Given the description of an element on the screen output the (x, y) to click on. 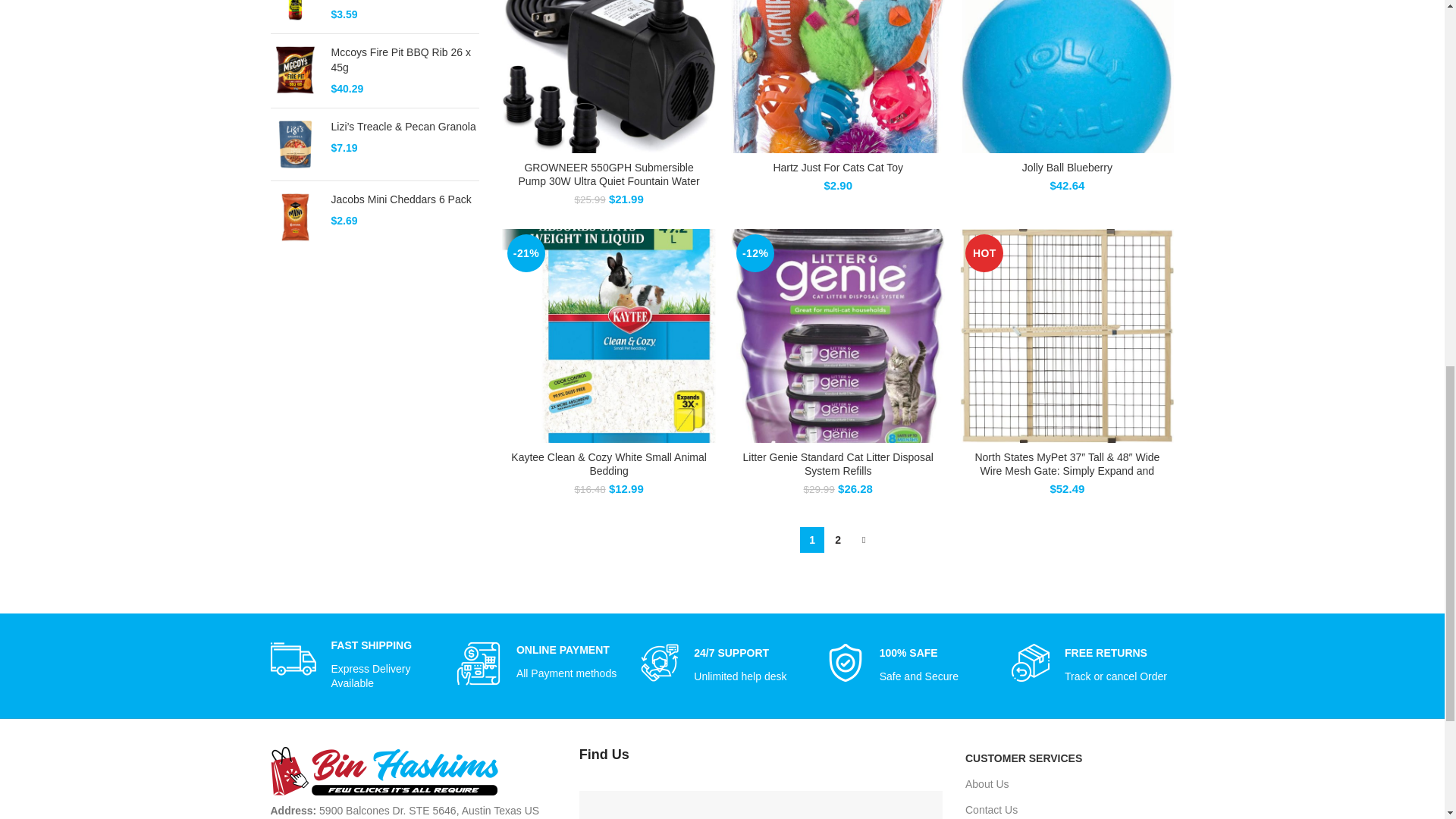
Mccoys Fire Pit BBQ Rib 26 x 45g (293, 70)
Shipping (292, 658)
Reggae Reggae Original Jerk Barbeque Sauce (293, 11)
Mccoys Fire Pit BBQ Rib 26 x 45g (404, 60)
Jacobs Mini Cheddars 6 Pack (293, 216)
Jacobs Mini Cheddars 6 Pack (404, 200)
